Given the description of an element on the screen output the (x, y) to click on. 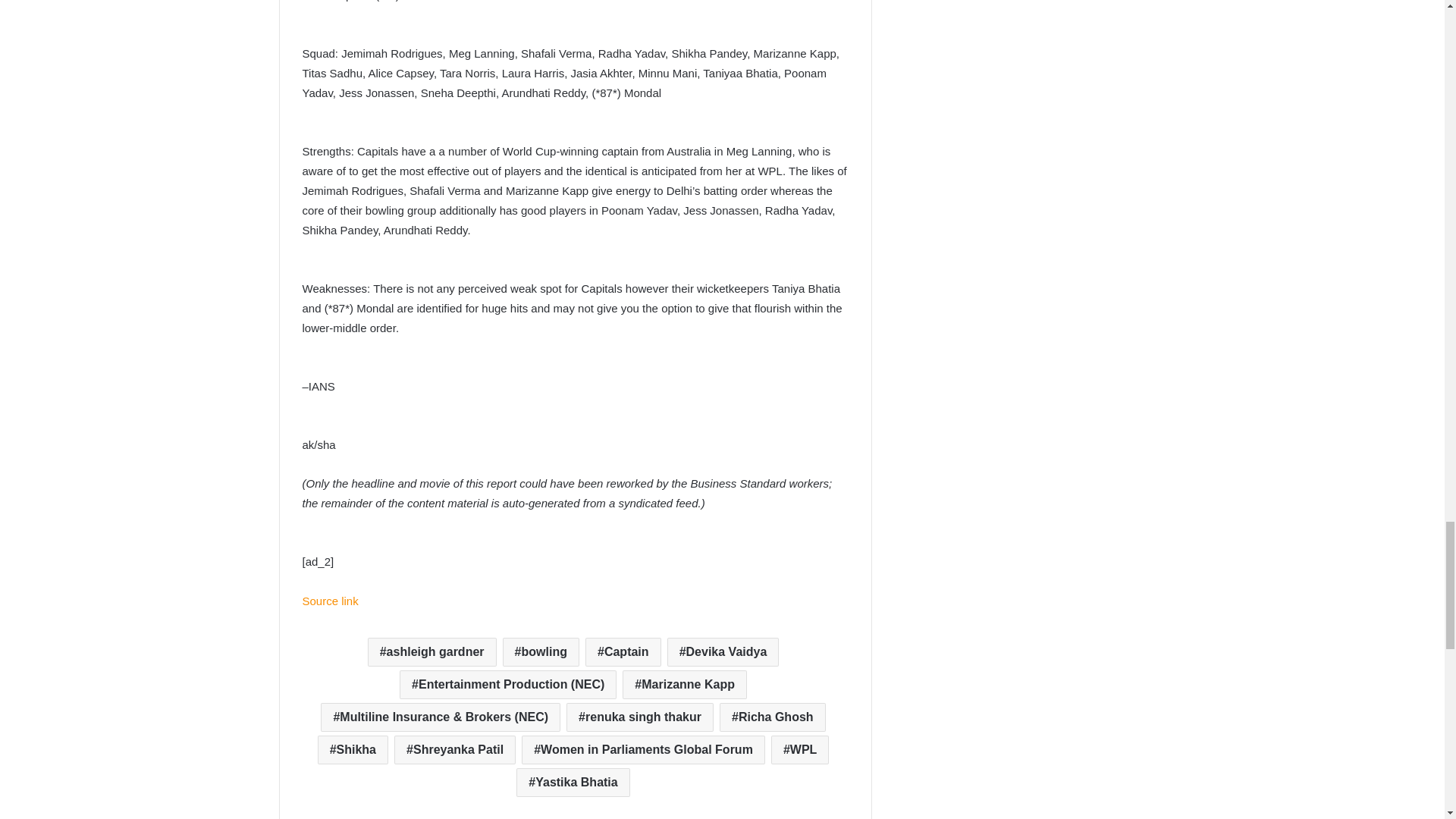
renuka singh thakur (639, 717)
ashleigh gardner (432, 652)
Captain (623, 652)
Yastika Bhatia (572, 782)
Women in Parliaments Global Forum (643, 749)
Source link (329, 600)
Devika Vaidya (722, 652)
Shreyanka Patil (454, 749)
Richa Ghosh (772, 717)
bowling (540, 652)
Shikha (352, 749)
Marizanne Kapp (684, 684)
WPL (799, 749)
